Given the description of an element on the screen output the (x, y) to click on. 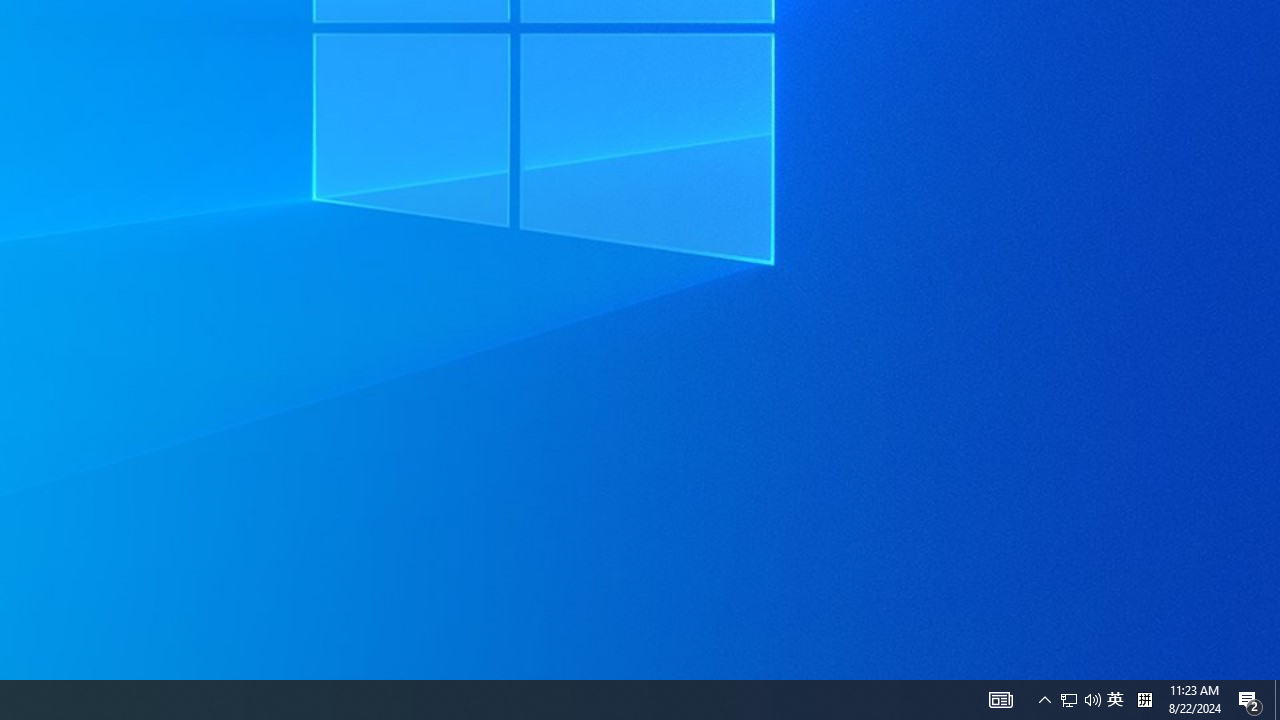
Tray Input Indicator - Chinese (Simplified, China) (1069, 699)
Show desktop (1144, 699)
Action Center, 2 new notifications (1277, 699)
User Promoted Notification Area (1250, 699)
AutomationID: 4105 (1115, 699)
Q2790: 100% (1080, 699)
Notification Chevron (1000, 699)
